Given the description of an element on the screen output the (x, y) to click on. 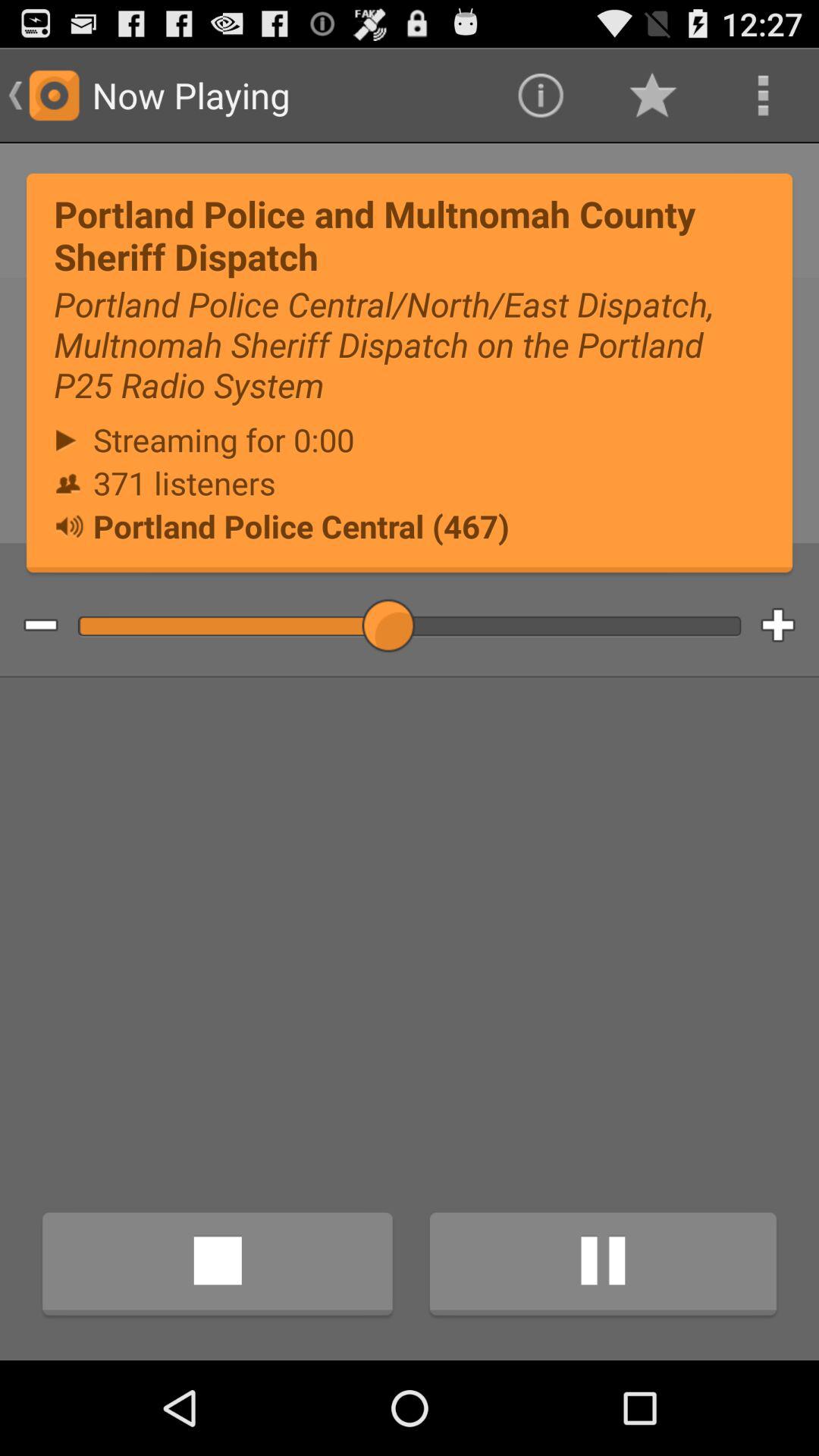
turn off app to the right of the now playing (540, 95)
